Given the description of an element on the screen output the (x, y) to click on. 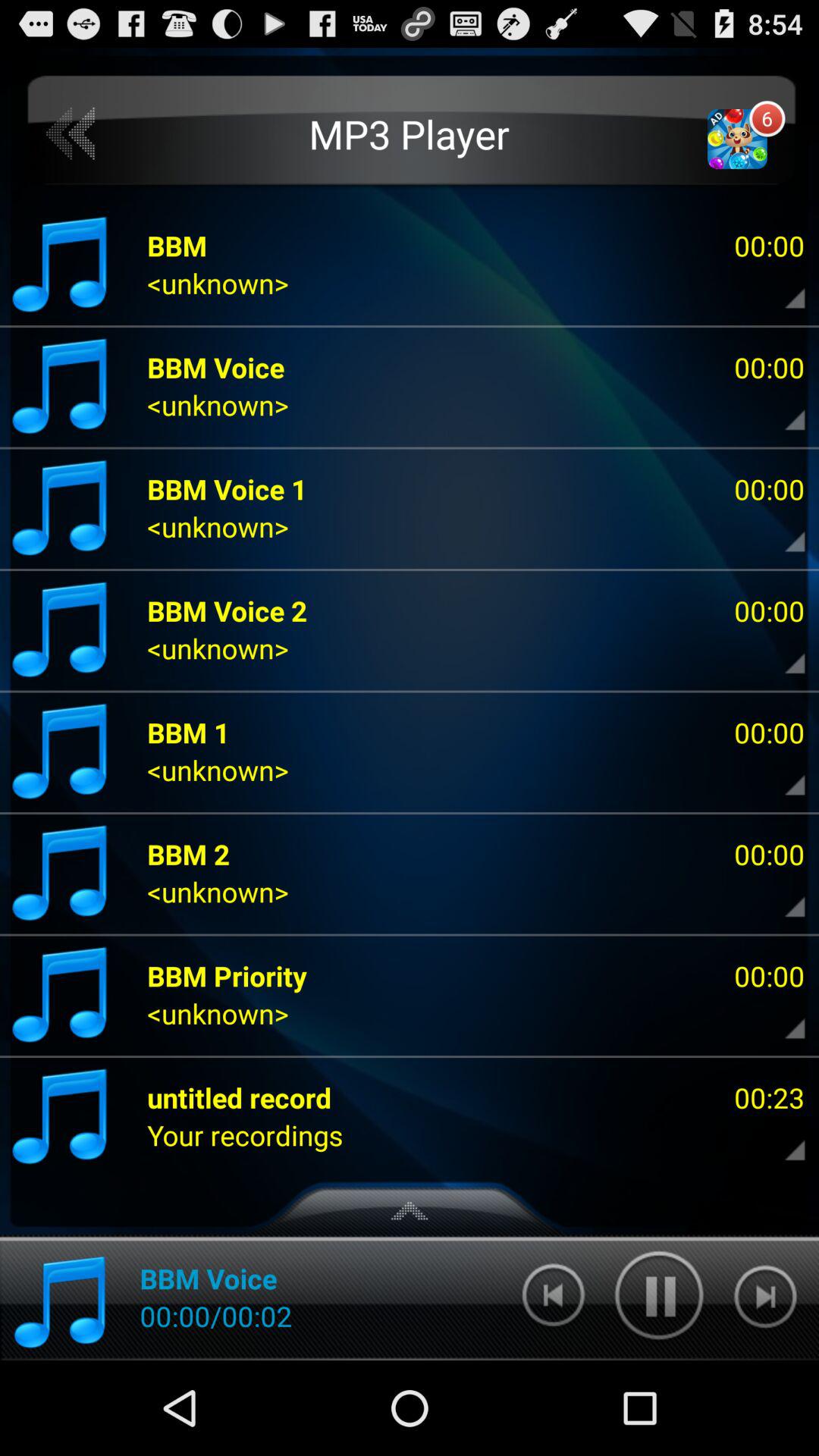
launch icon above your recordings app (239, 1097)
